Given the description of an element on the screen output the (x, y) to click on. 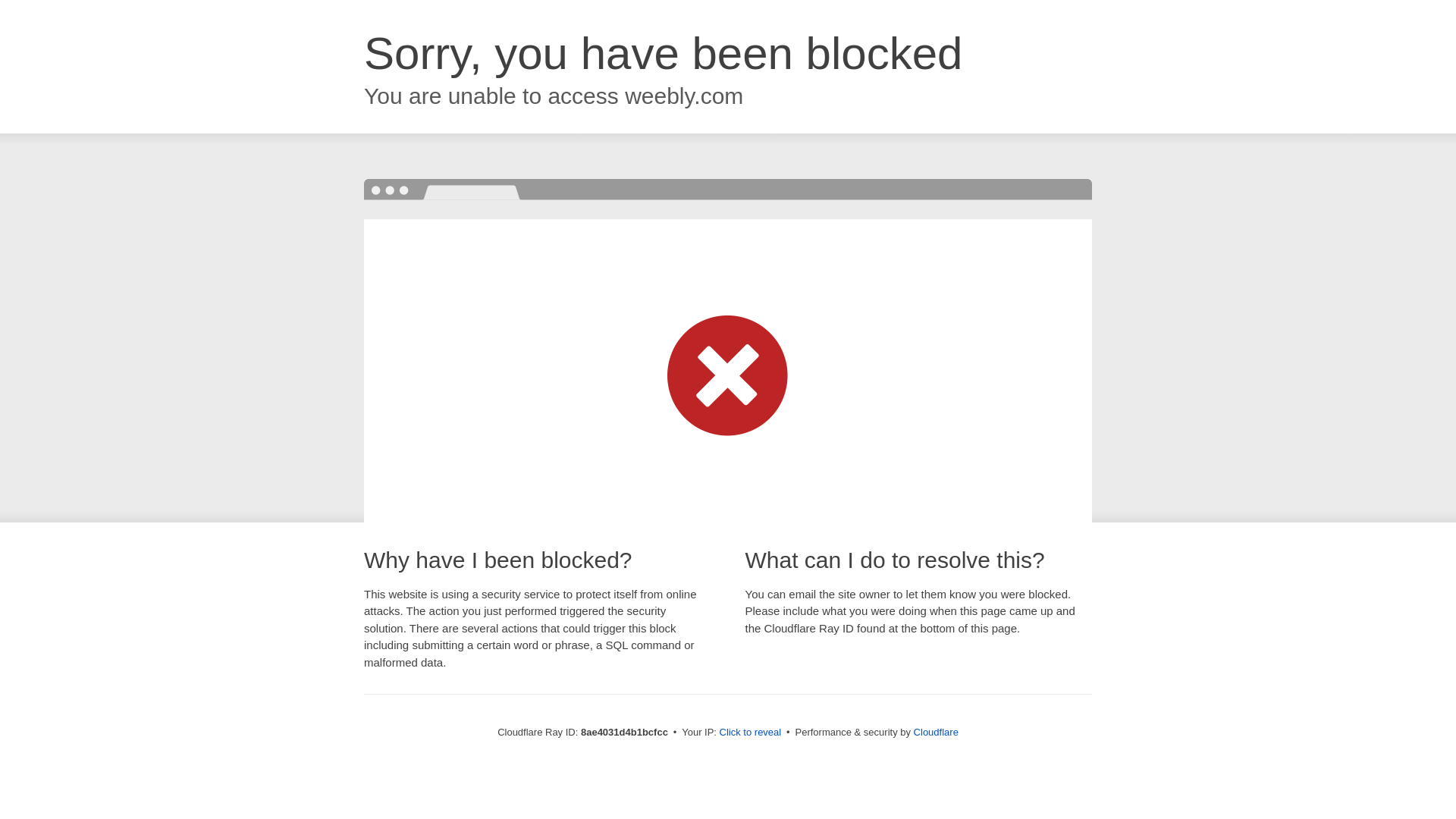
Cloudflare (936, 731)
Click to reveal (750, 732)
